Given the description of an element on the screen output the (x, y) to click on. 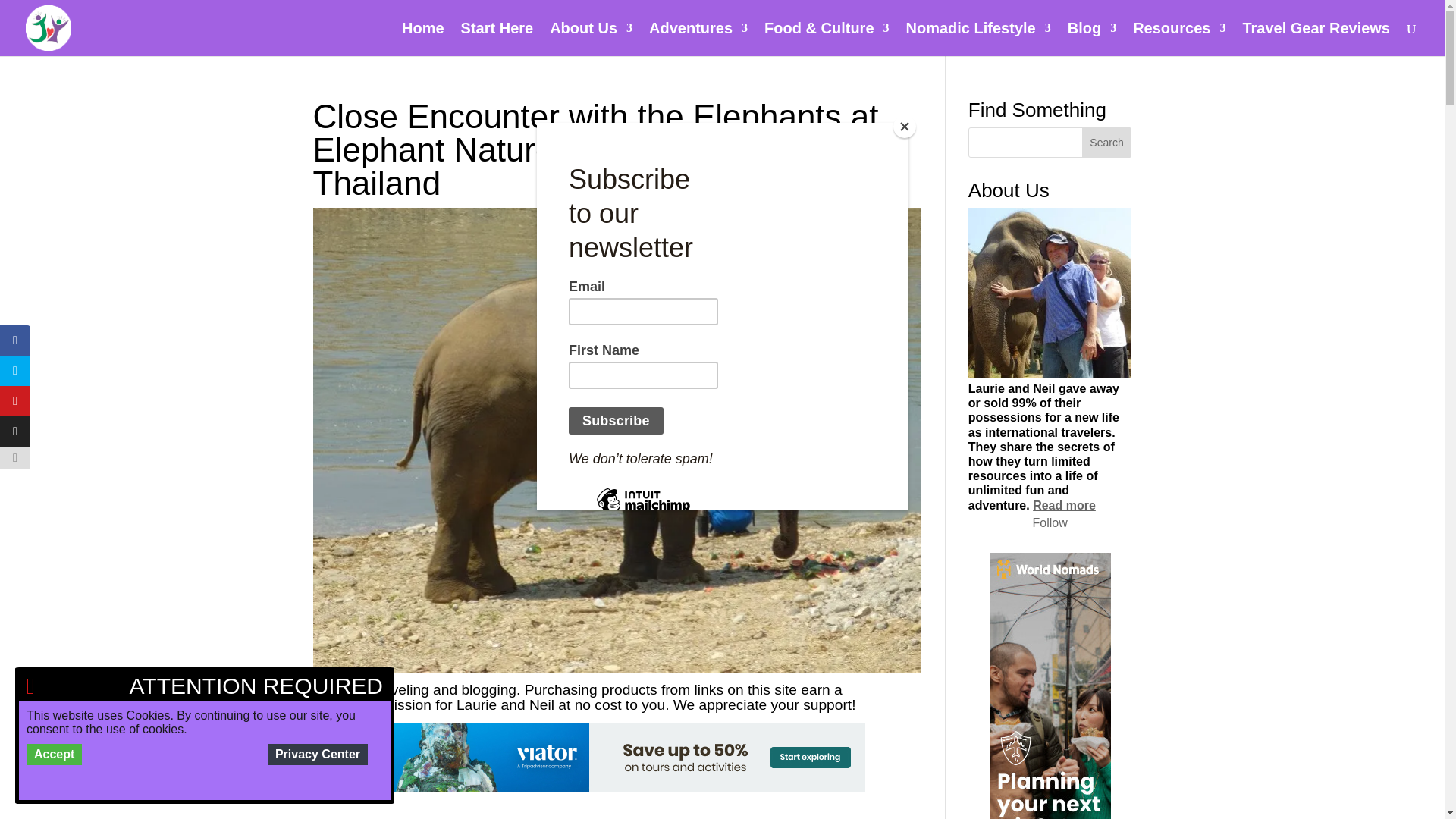
Nomadic Lifestyle (978, 39)
About Us (590, 39)
Resources (1178, 39)
Start Here (497, 39)
Adventures (698, 39)
Blog (1091, 39)
Search (1106, 142)
Home (422, 39)
